Given the description of an element on the screen output the (x, y) to click on. 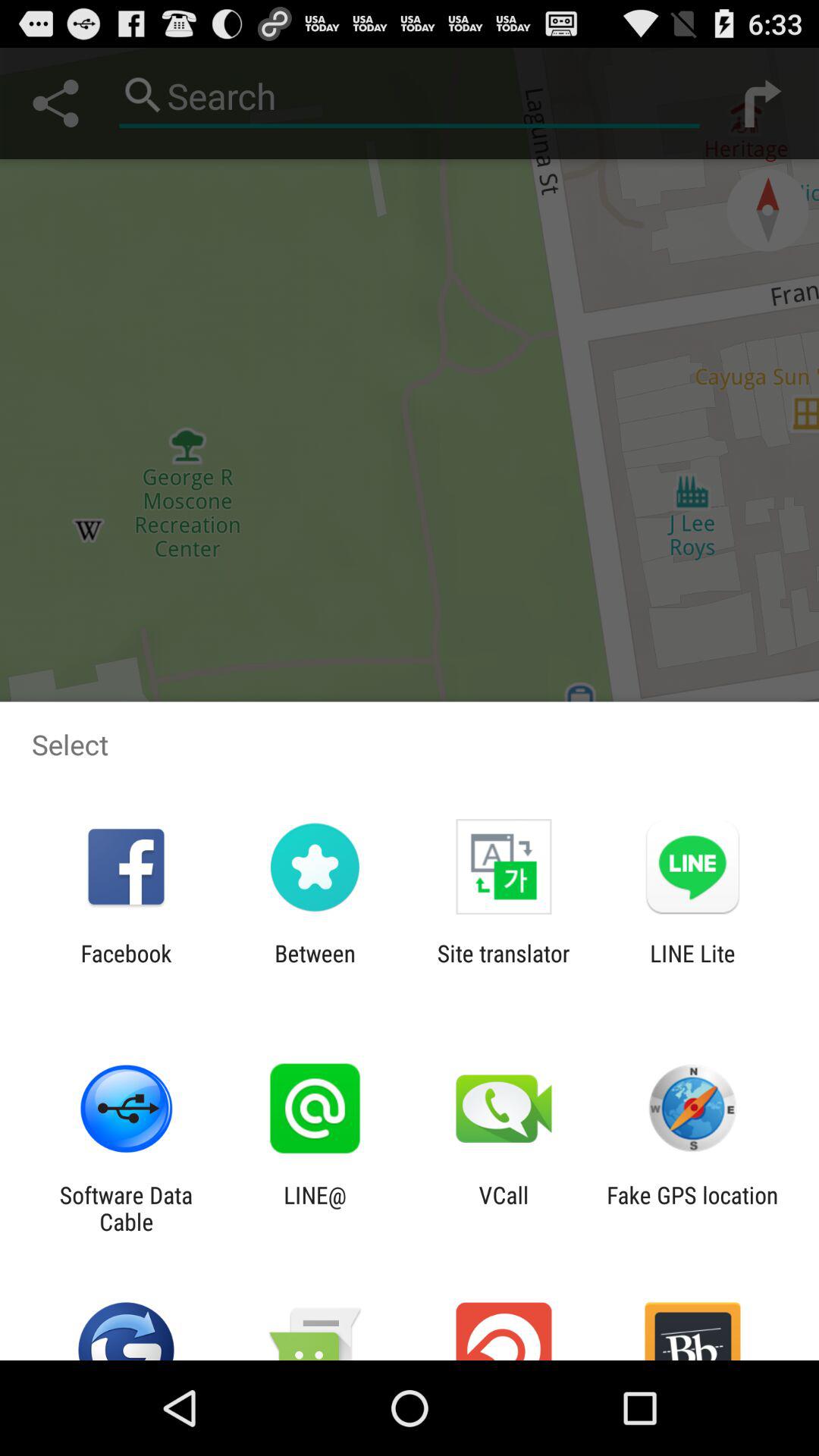
turn on the item next to the line lite app (503, 966)
